Given the description of an element on the screen output the (x, y) to click on. 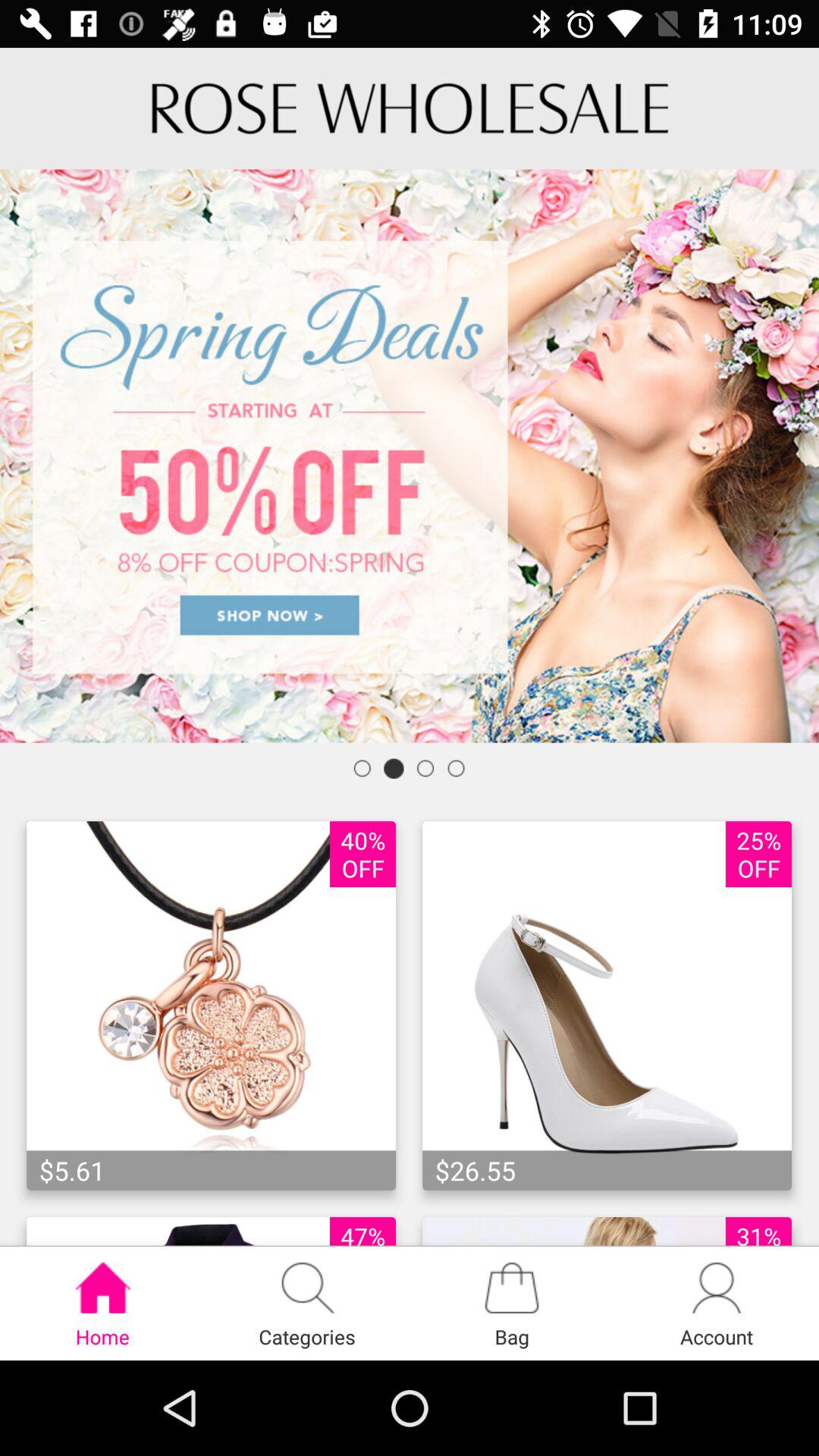
spring deals for 50 option (409, 455)
